Given the description of an element on the screen output the (x, y) to click on. 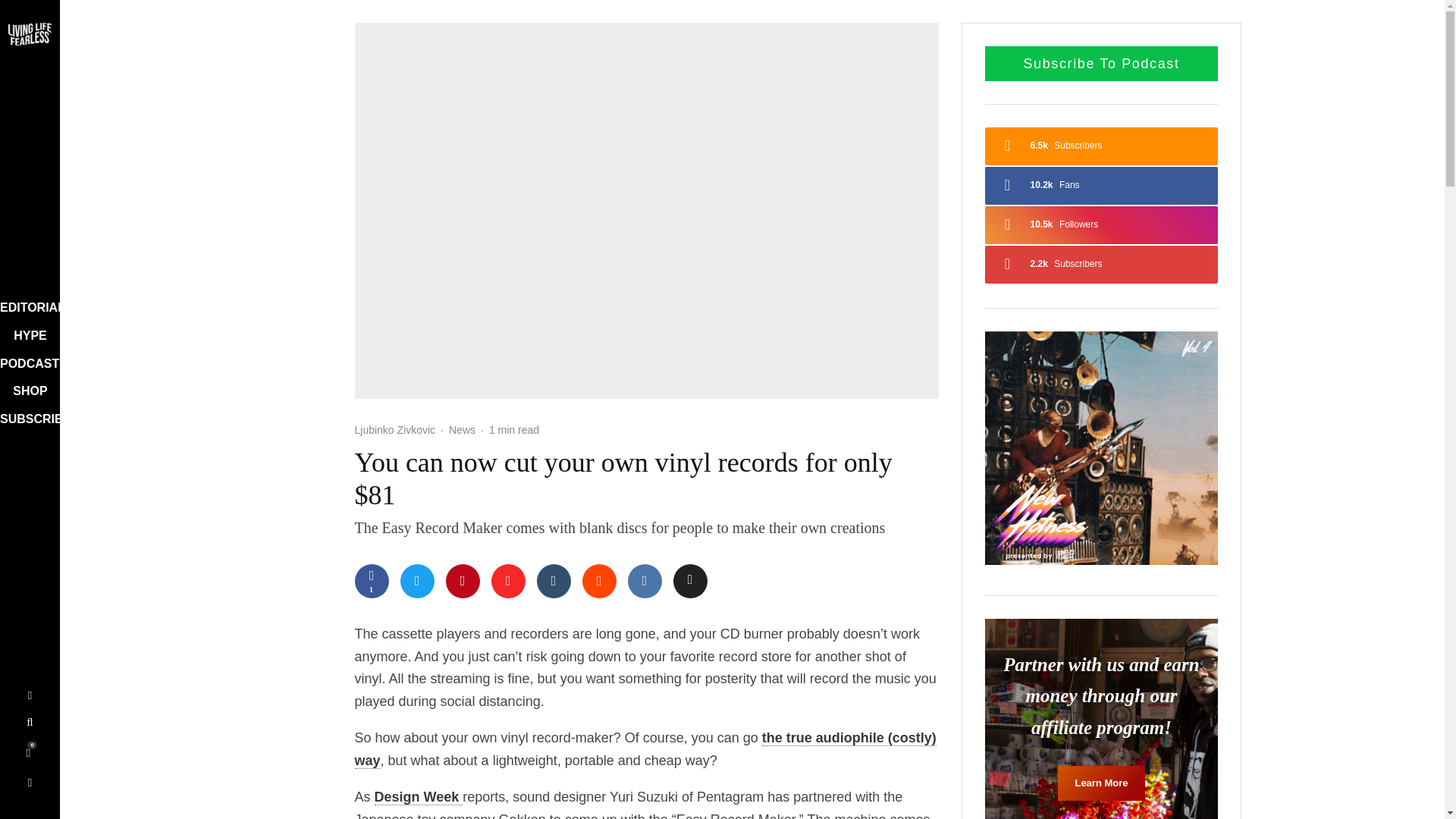
SUBSCRIBE! (25, 419)
Ljubinko Zivkovic (395, 429)
SHOP (24, 391)
News (462, 429)
Design Week (418, 797)
1 (371, 581)
PODCASTS (30, 363)
